Given the description of an element on the screen output the (x, y) to click on. 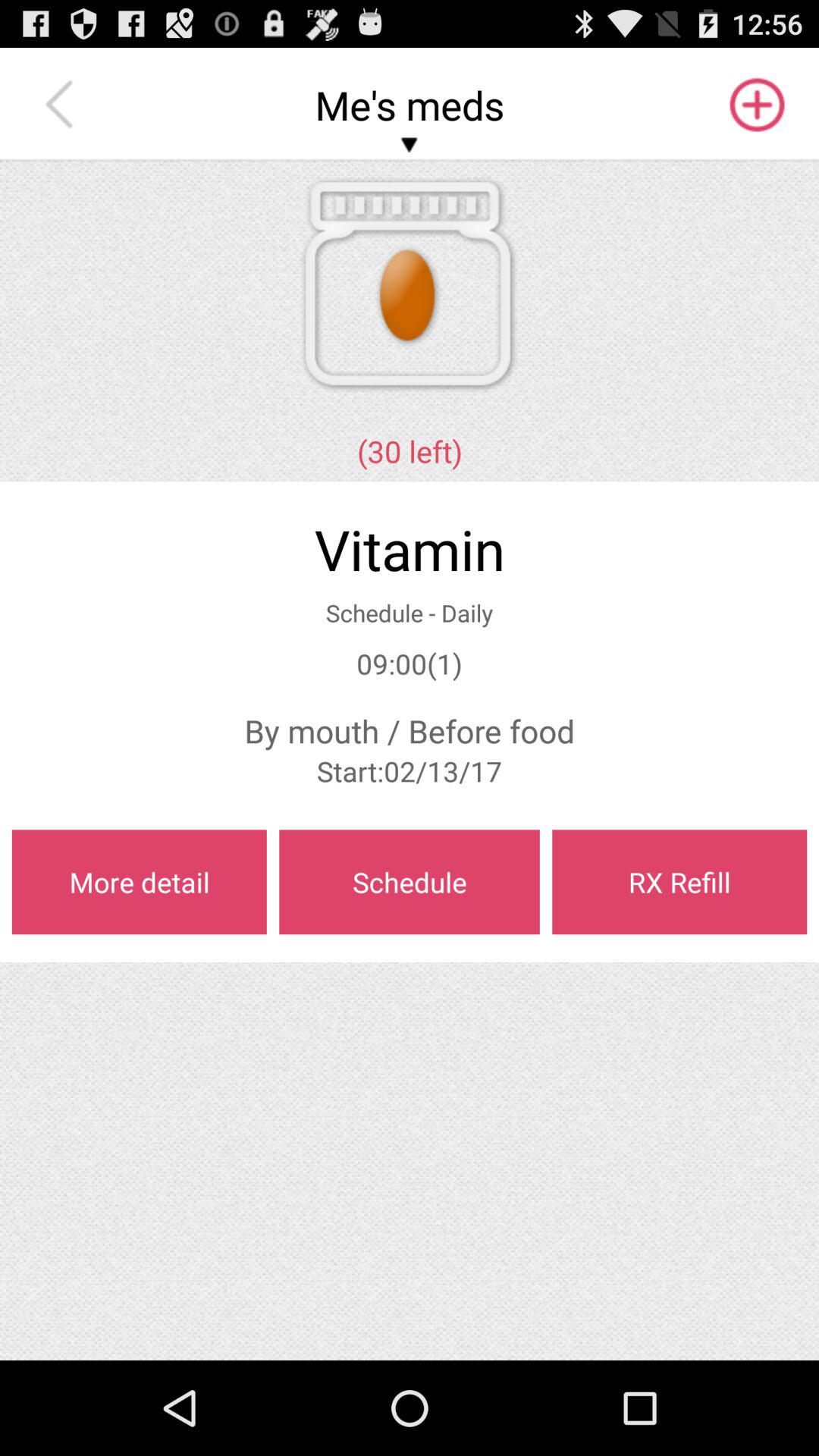
turn off the app above the (30 left) item (63, 104)
